Given the description of an element on the screen output the (x, y) to click on. 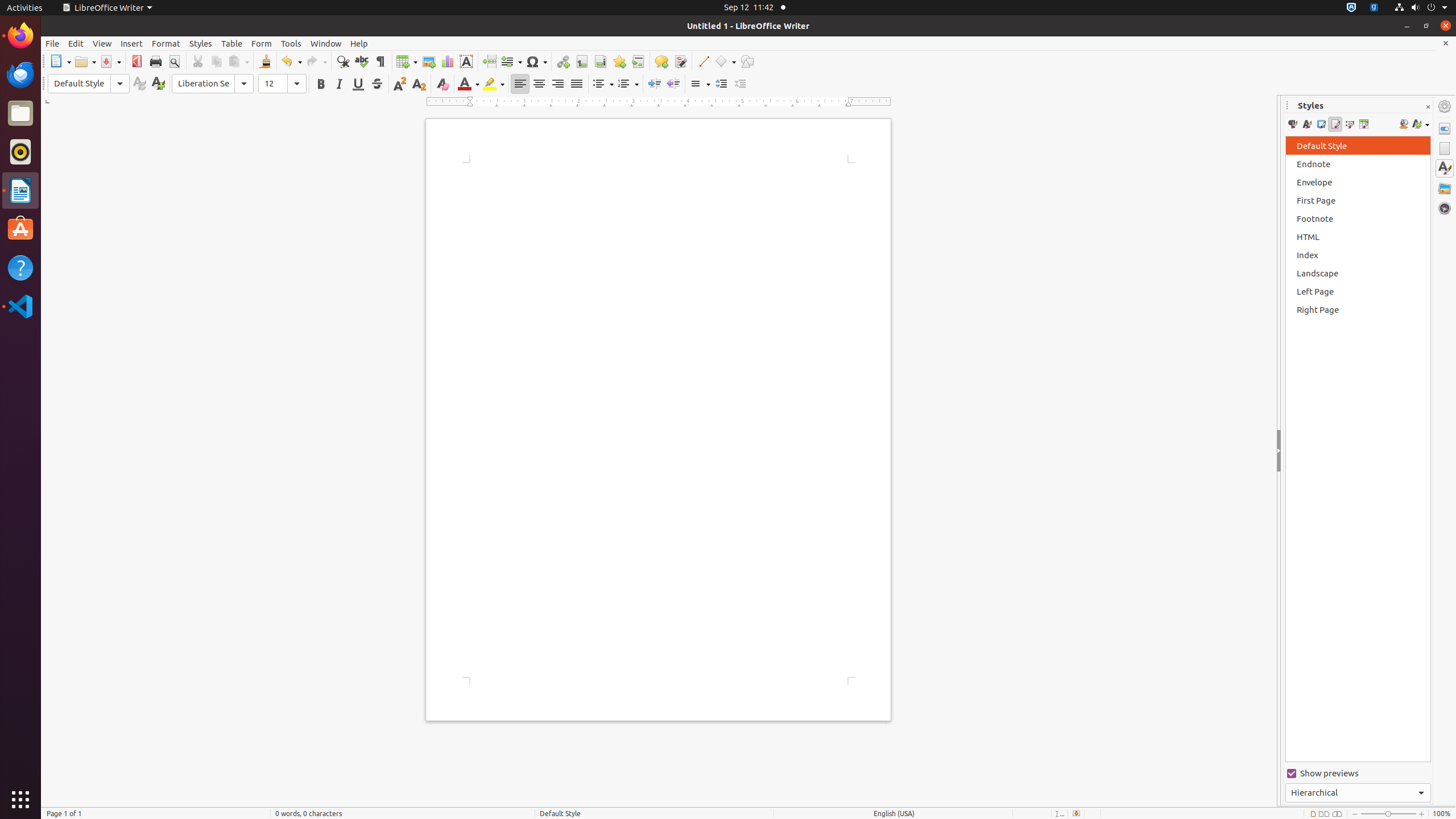
Undo Element type: push-button (290, 61)
Window Element type: menu (325, 43)
Style List Element type: tree (1357, 448)
Draw Functions Element type: push-button (746, 61)
Format Element type: menu (165, 43)
